Given the description of an element on the screen output the (x, y) to click on. 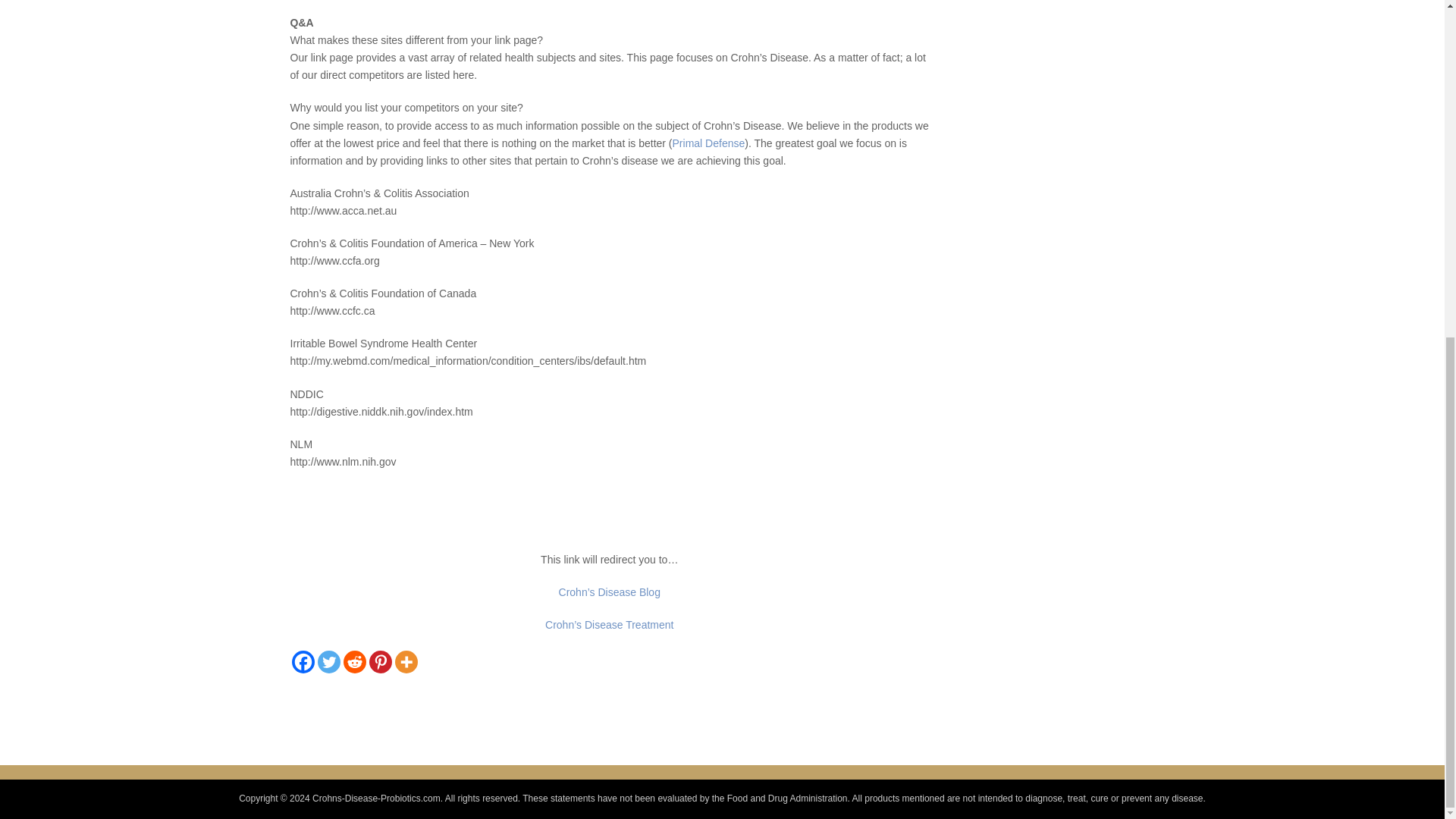
Reddit (353, 661)
Twitter (328, 661)
Pinterest (379, 661)
Primal Defense (708, 143)
More (405, 661)
Facebook (302, 661)
